Given the description of an element on the screen output the (x, y) to click on. 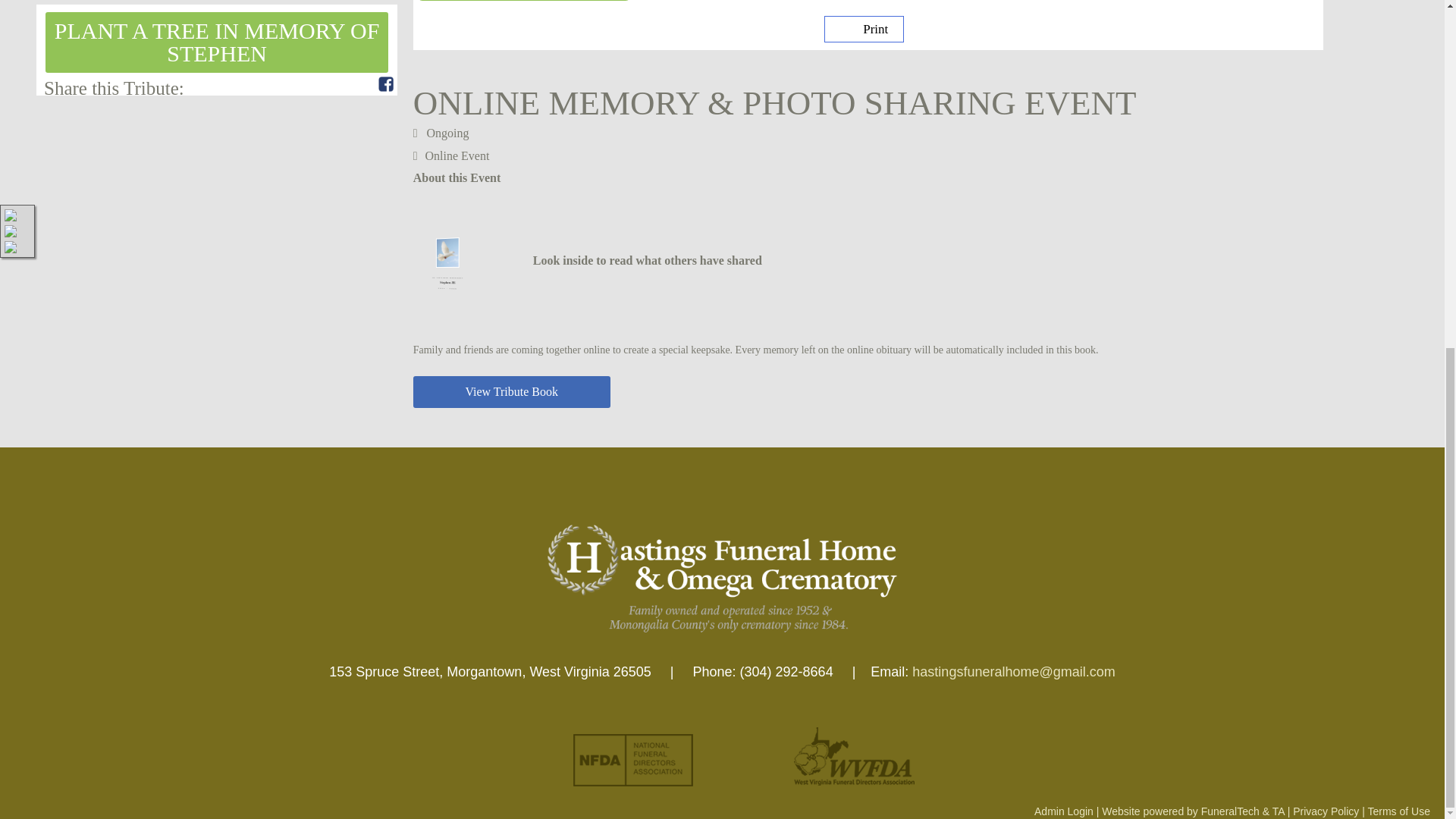
Print (864, 29)
Plant A Tree (216, 42)
Facebook (385, 83)
PLANT A TREE IN MEMORY OF STEPHEN (216, 42)
Twitter (367, 83)
Receive Notifications (348, 83)
